Given the description of an element on the screen output the (x, y) to click on. 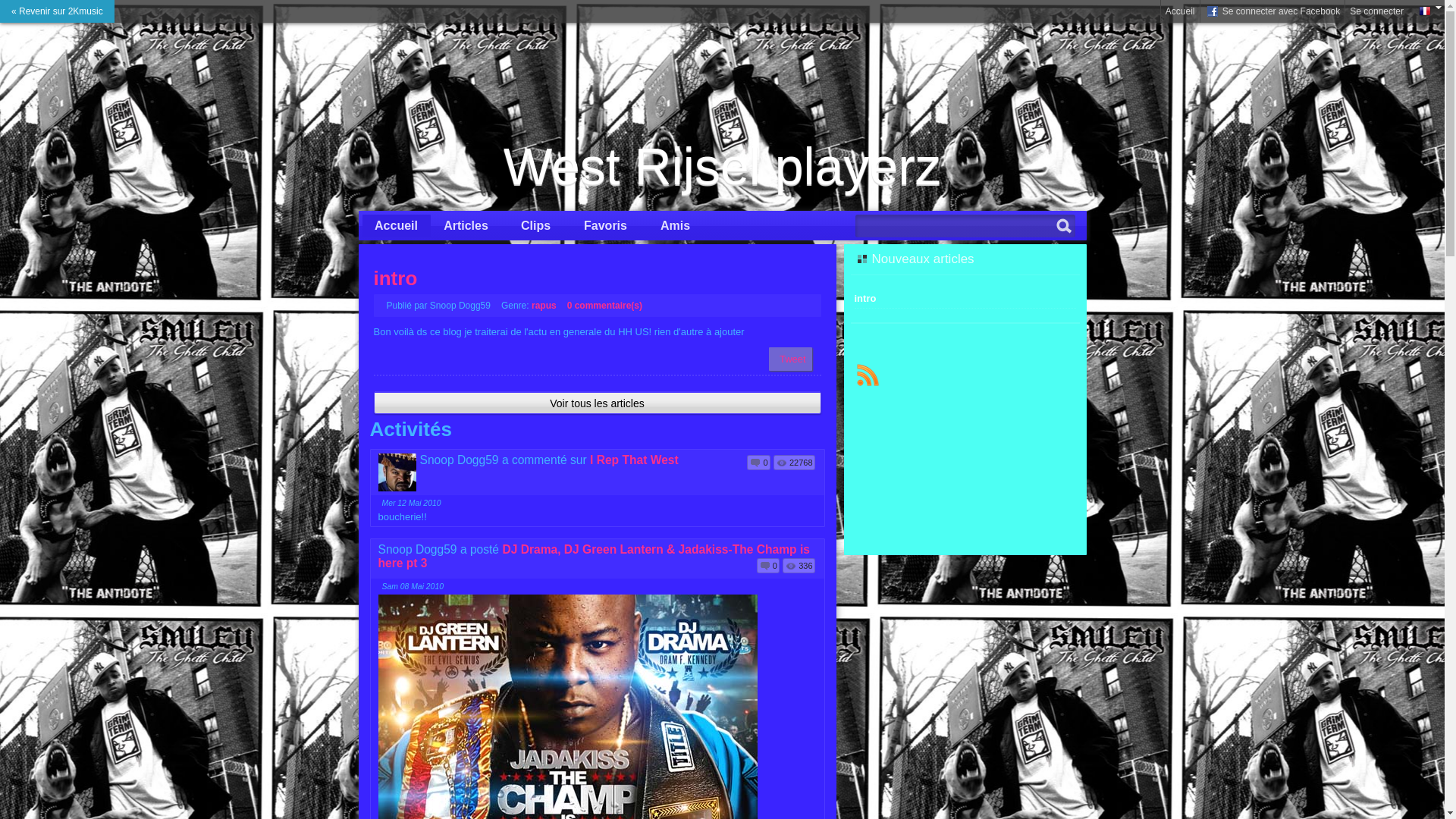
Clips Element type: text (536, 225)
Articles Element type: text (466, 225)
Amis Element type: text (675, 225)
  Element type: text (867, 374)
intro Element type: text (395, 277)
0 Element type: text (767, 565)
intro Element type: text (864, 298)
DJ Drama, DJ Green Lantern & Jadakiss-The Champ is here pt 3 Element type: text (593, 555)
Tweet Element type: text (792, 358)
0 commentaire(s) Element type: text (604, 305)
 Se connecter avec Facebook Element type: text (1272, 11)
rapus Element type: text (543, 305)
West Rijsel playerz Element type: text (722, 165)
I Rep That West Element type: text (633, 459)
Se connecter Element type: text (1376, 11)
Favoris Element type: text (605, 225)
Accueil Element type: text (1180, 11)
Accueil Element type: text (396, 225)
0 Element type: text (757, 462)
Voir tous les articles Element type: text (597, 402)
